Given the description of an element on the screen output the (x, y) to click on. 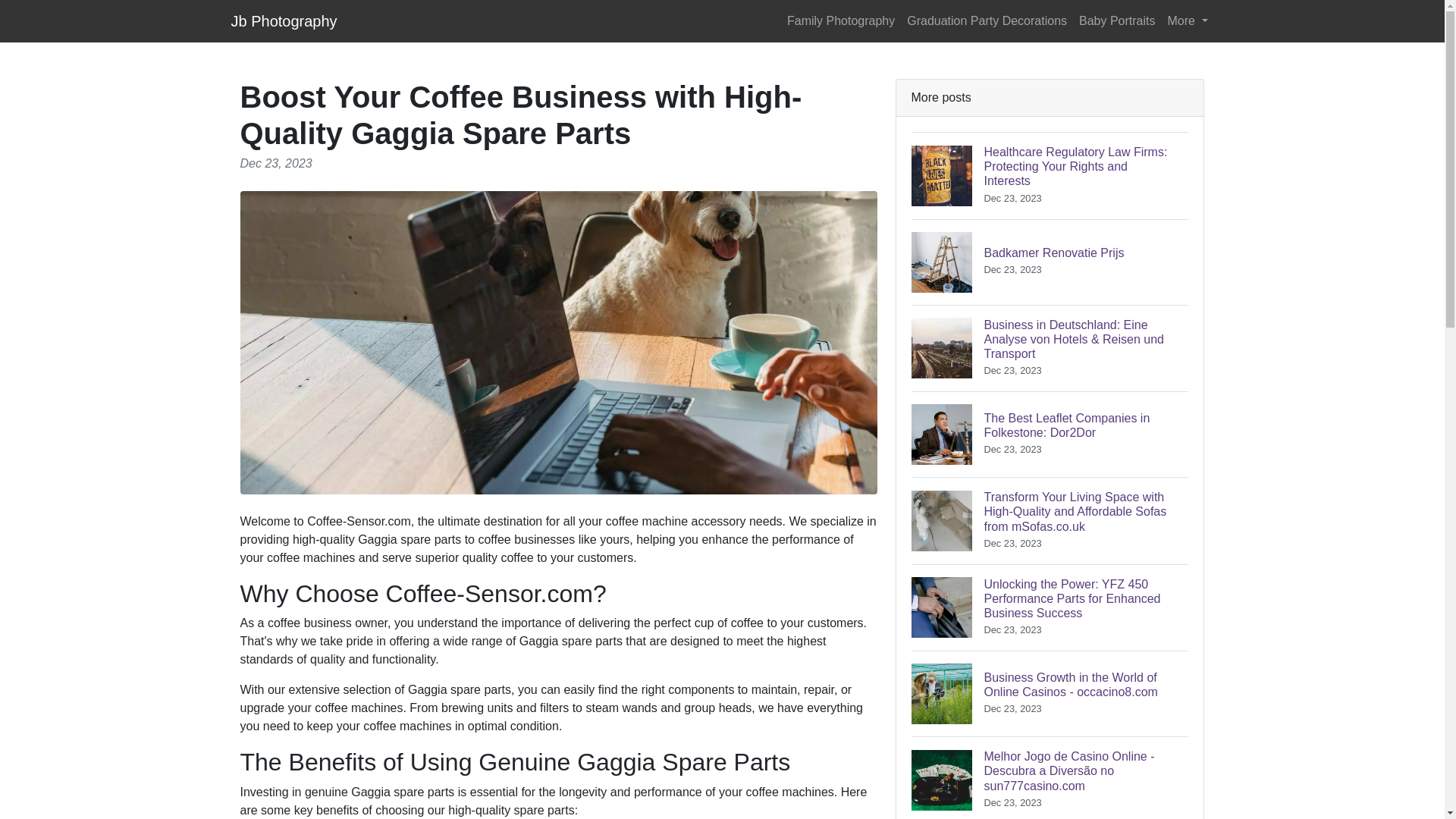
Baby Portraits (1050, 261)
Graduation Party Decorations (1116, 20)
Jb Photography (987, 20)
More (283, 20)
Family Photography (1187, 20)
